Given the description of an element on the screen output the (x, y) to click on. 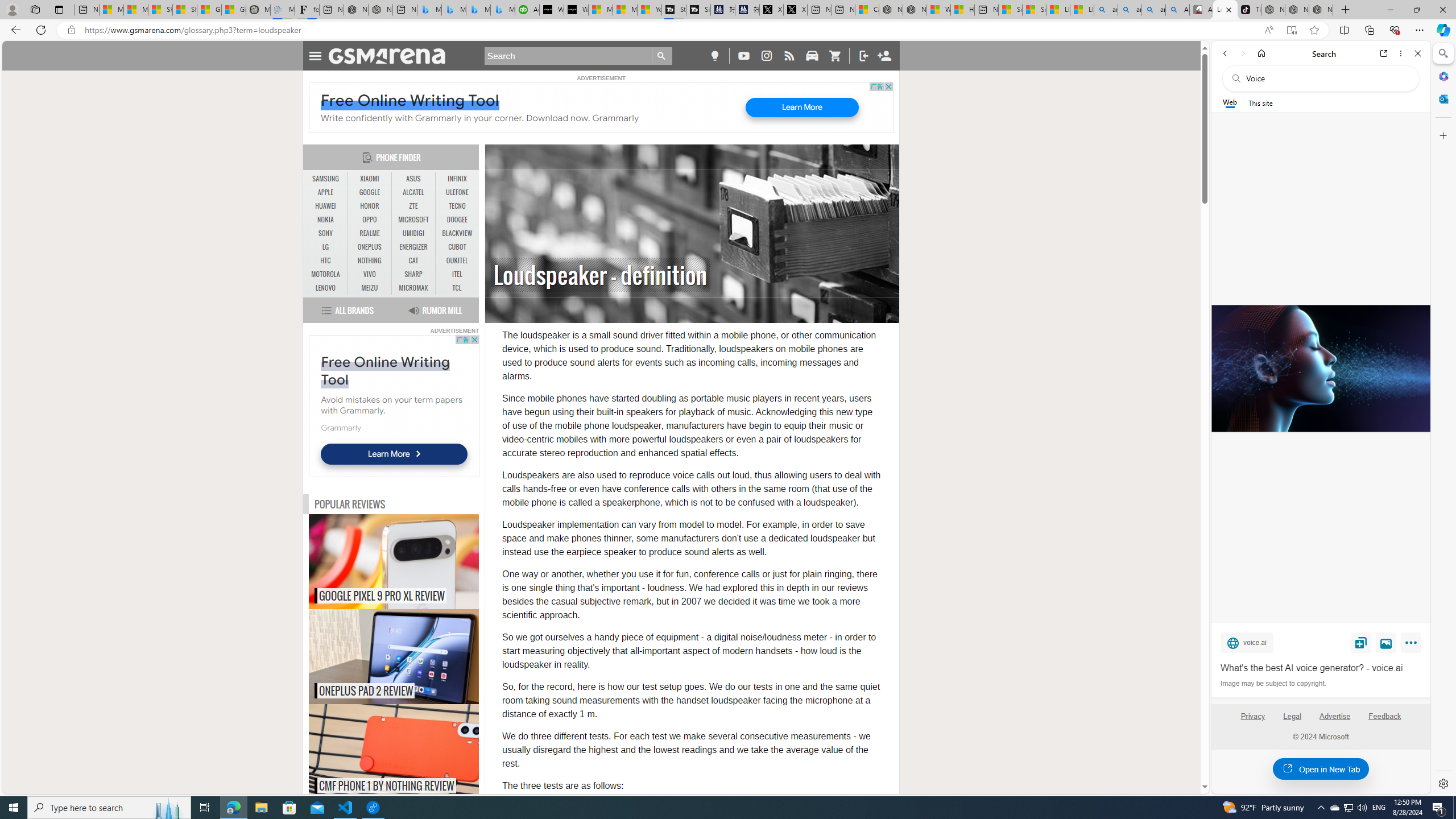
Learn More (393, 453)
DOOGEE (457, 219)
VIVO (369, 273)
Loudspeaker - definition - GSMArena.com (1224, 9)
Go (662, 55)
ULEFONE (457, 192)
SHARP (413, 273)
MOTOROLA (325, 273)
Image may be subject to copyright. (1273, 682)
